Given the description of an element on the screen output the (x, y) to click on. 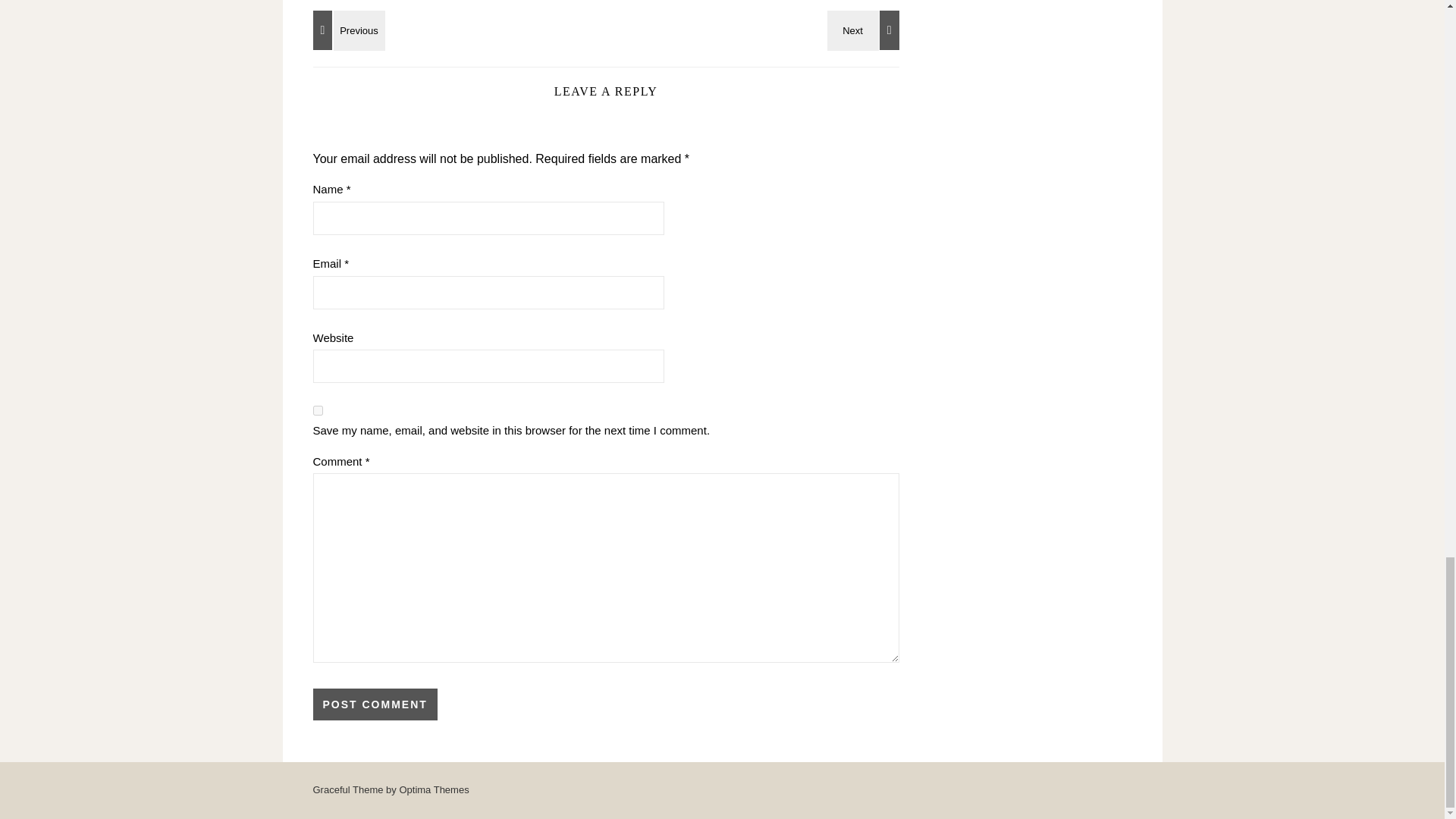
How to Become a Successful Real Estate Investor (346, 29)
Post Comment (374, 704)
yes (317, 410)
Optima Themes (433, 789)
Post Comment (374, 704)
Investing in Digital Real Estate (865, 29)
